Given the description of an element on the screen output the (x, y) to click on. 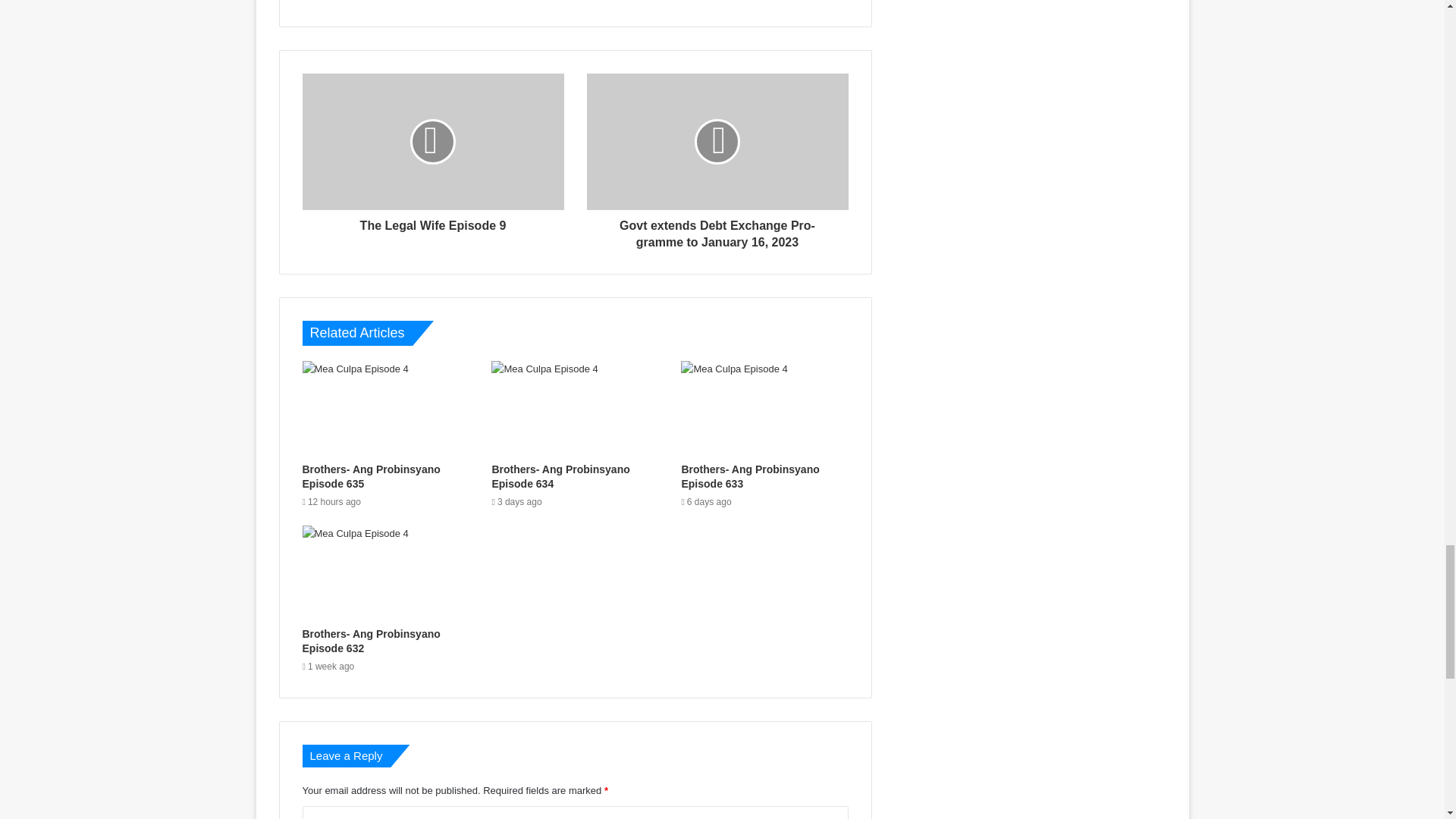
Brothers- Ang Probinsyano Episode 633 (764, 408)
Brothers- Ang Probinsyano Episode 635 (384, 408)
Brothers- Ang Probinsyano Episode 632 (384, 572)
Brothers- Ang Probinsyano Episode 634 (575, 408)
